Given the description of an element on the screen output the (x, y) to click on. 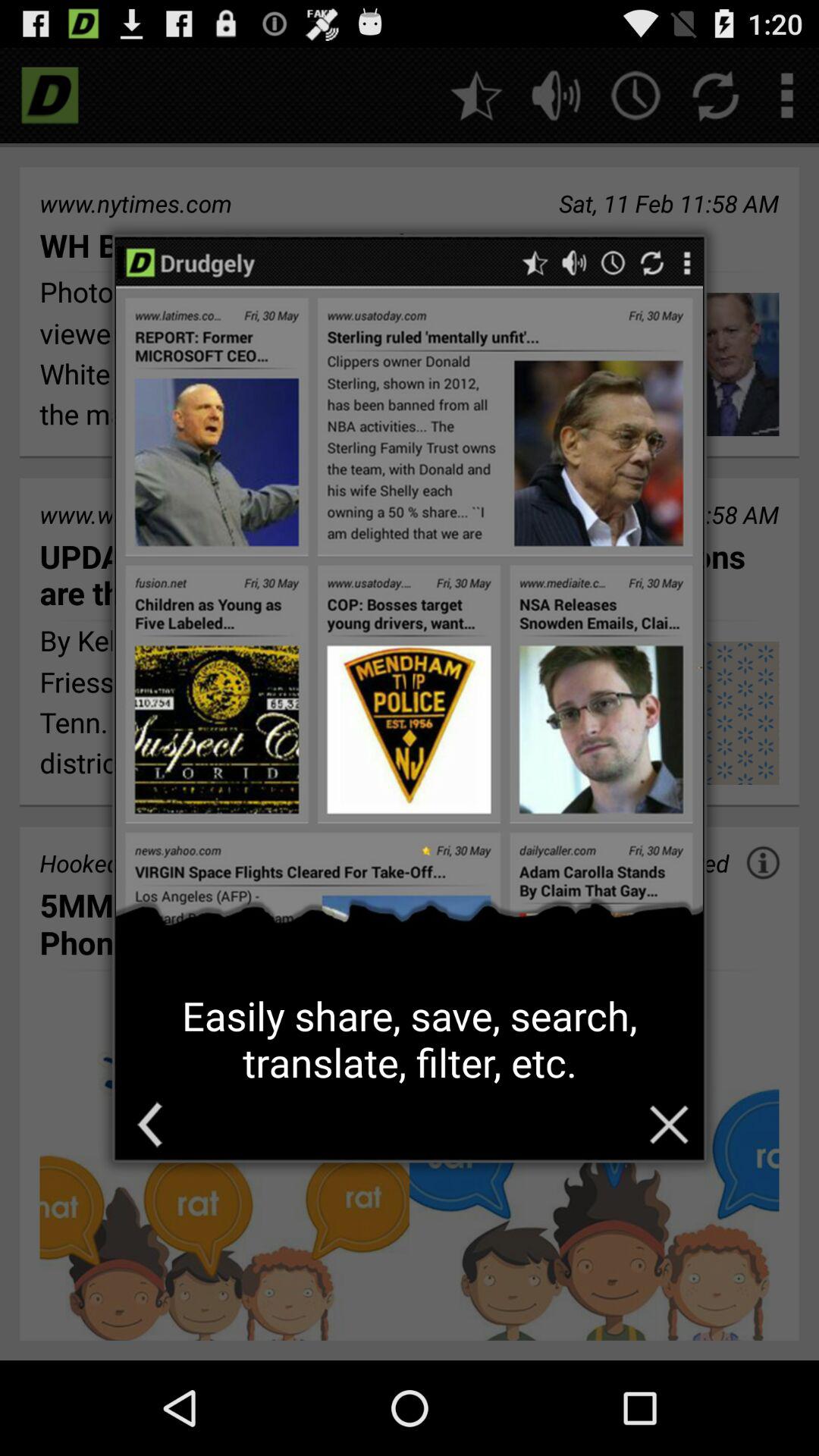
press icon at the bottom right corner (668, 1124)
